Given the description of an element on the screen output the (x, y) to click on. 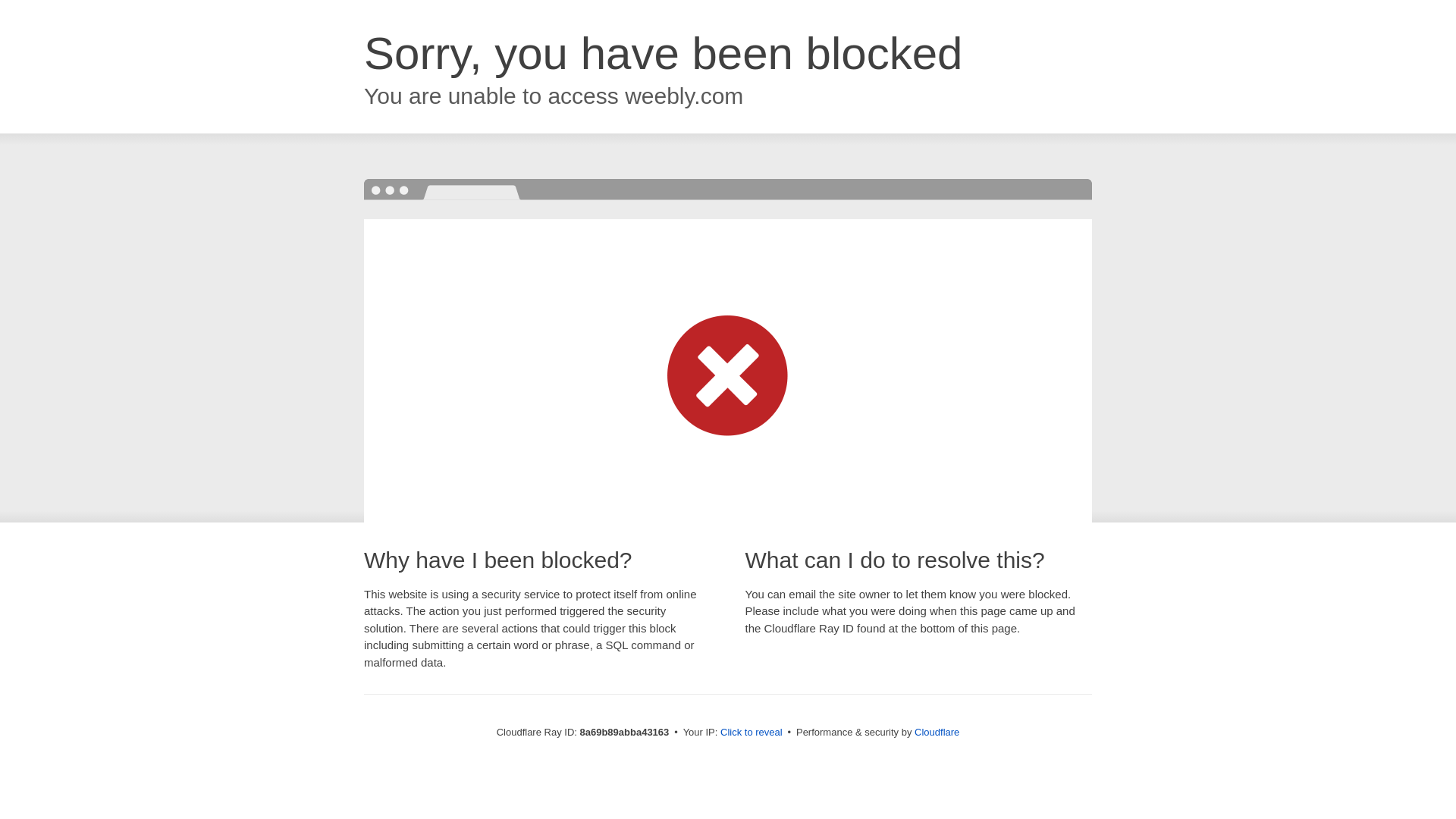
Cloudflare (936, 731)
Click to reveal (751, 732)
